Given the description of an element on the screen output the (x, y) to click on. 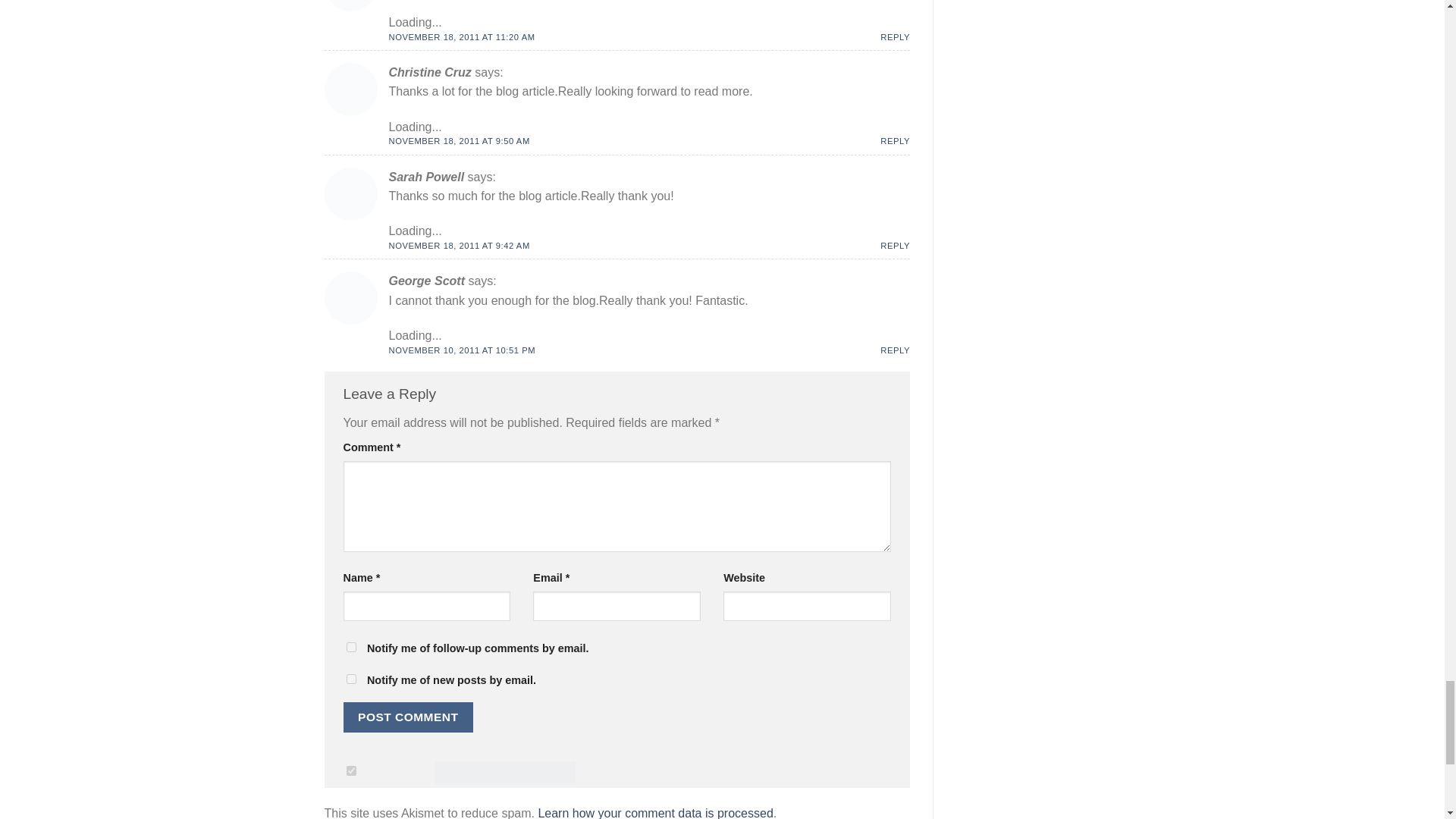
subscribe (350, 646)
subscribe (350, 678)
Post Comment (407, 716)
on (350, 770)
